Given the description of an element on the screen output the (x, y) to click on. 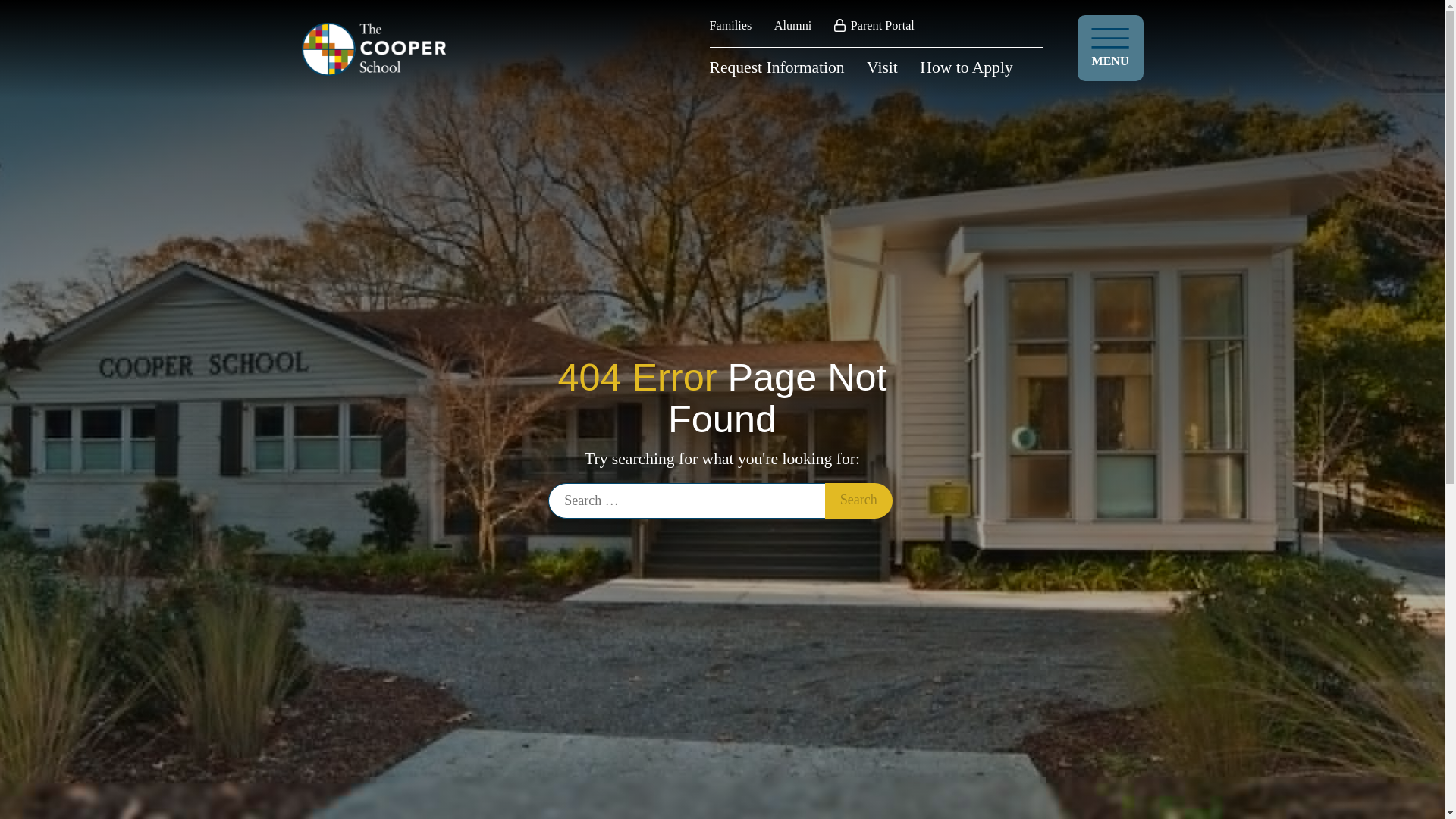
How to Apply (965, 67)
Families (731, 25)
Visit (882, 67)
MENU (1109, 48)
Search (858, 500)
Request Information (777, 67)
Parent Portal (874, 25)
Alumni (792, 25)
